Given the description of an element on the screen output the (x, y) to click on. 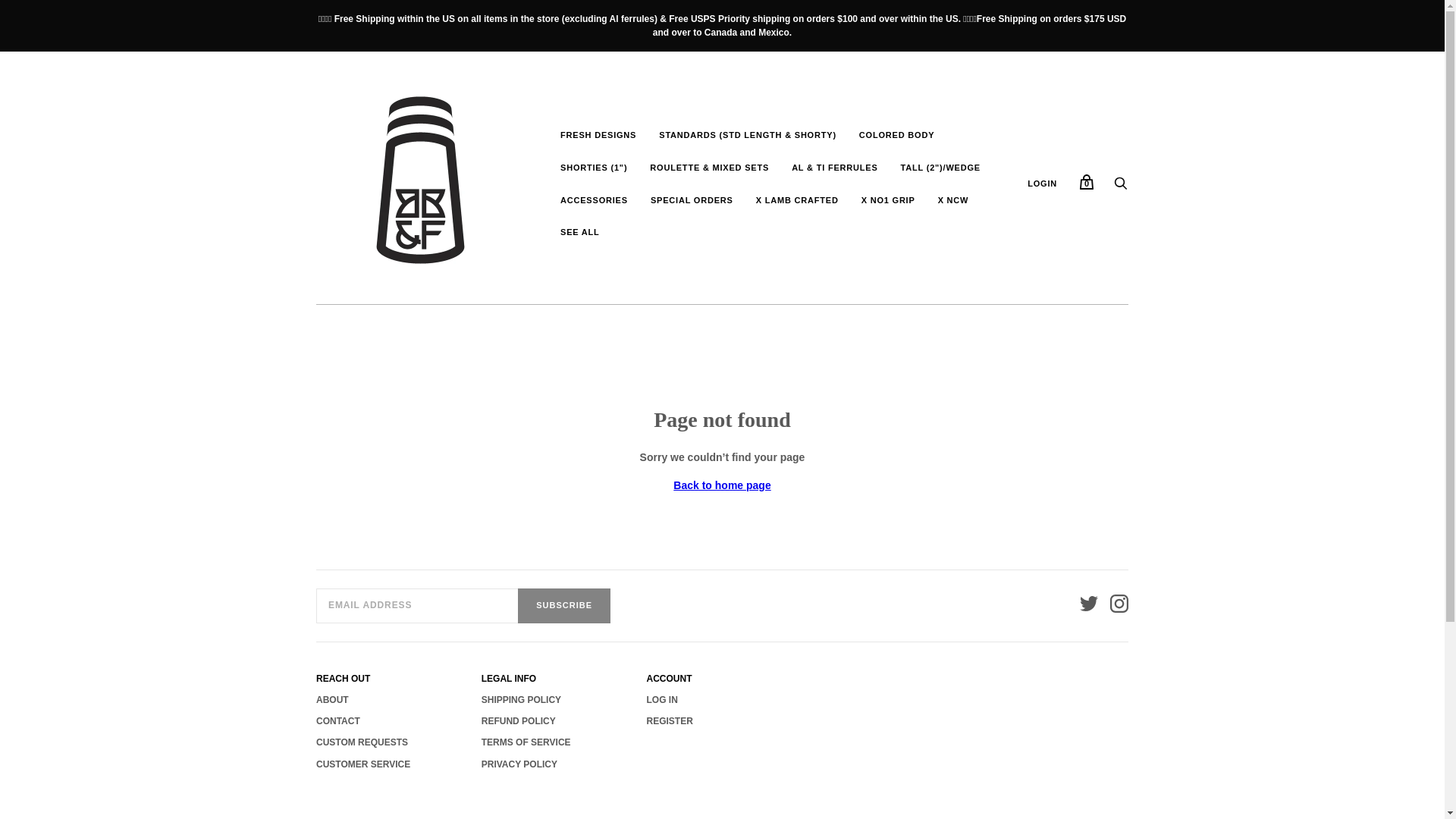
SPECIAL ORDERS (691, 200)
X NO1 GRIP (888, 200)
SEE ALL (579, 232)
COLORED BODY (895, 134)
LOGIN (1042, 183)
0 (1085, 182)
SUBSCRIBE (564, 605)
X LAMB CRAFTED (797, 200)
Back to home page (721, 485)
X NCW (952, 200)
